Given the description of an element on the screen output the (x, y) to click on. 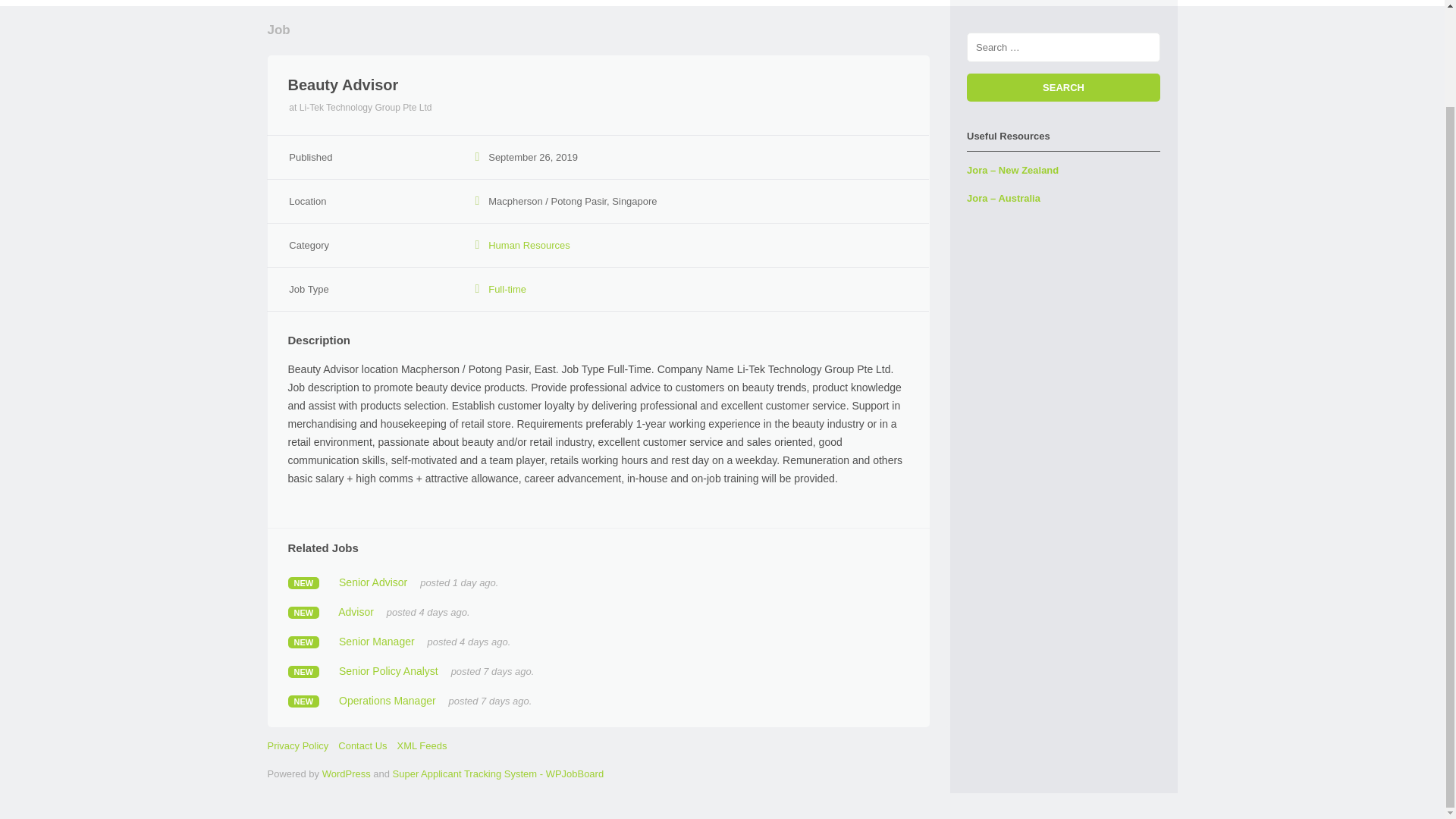
Senior Advisor (373, 582)
Search (1063, 87)
Contact Us (362, 745)
XML Feeds (421, 745)
Operations Manager (387, 700)
Search (1063, 87)
Senior Policy Analyst (388, 671)
Super Applicant Tracking System - WPJobBoard (498, 773)
Human Resources (528, 244)
WordPress (346, 773)
